Given the description of an element on the screen output the (x, y) to click on. 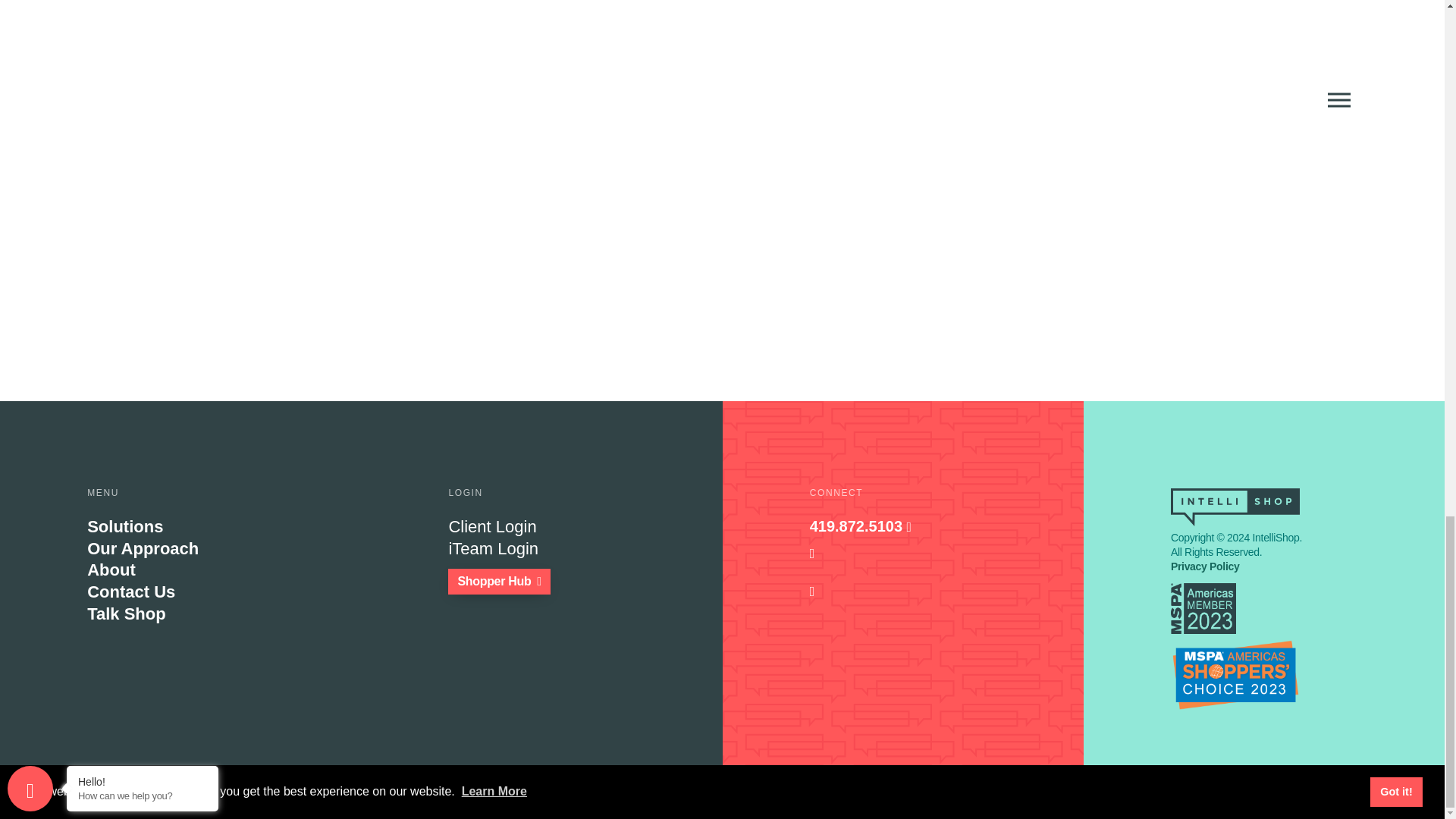
Shopper Hub (499, 581)
Talk Shop (224, 614)
Client Login (585, 527)
Our Approach (224, 549)
Contact Us (224, 592)
Privacy Policy (1204, 566)
About (224, 570)
iTeam Login (585, 549)
Solutions (224, 527)
419.872.5103 (946, 526)
